Given the description of an element on the screen output the (x, y) to click on. 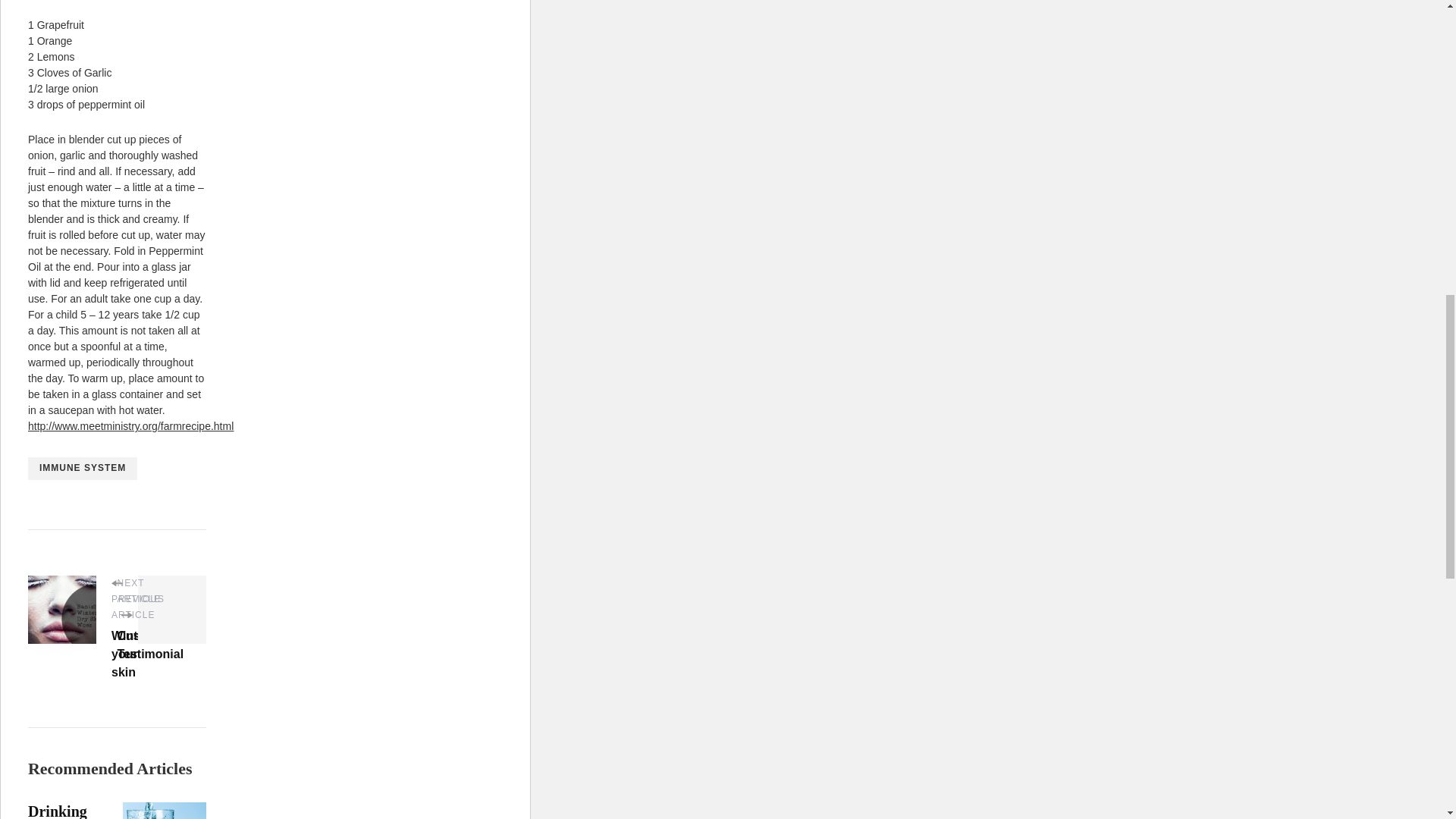
Drinking Water Benefits Your Health (57, 811)
IMMUNE SYSTEM (81, 468)
